Given the description of an element on the screen output the (x, y) to click on. 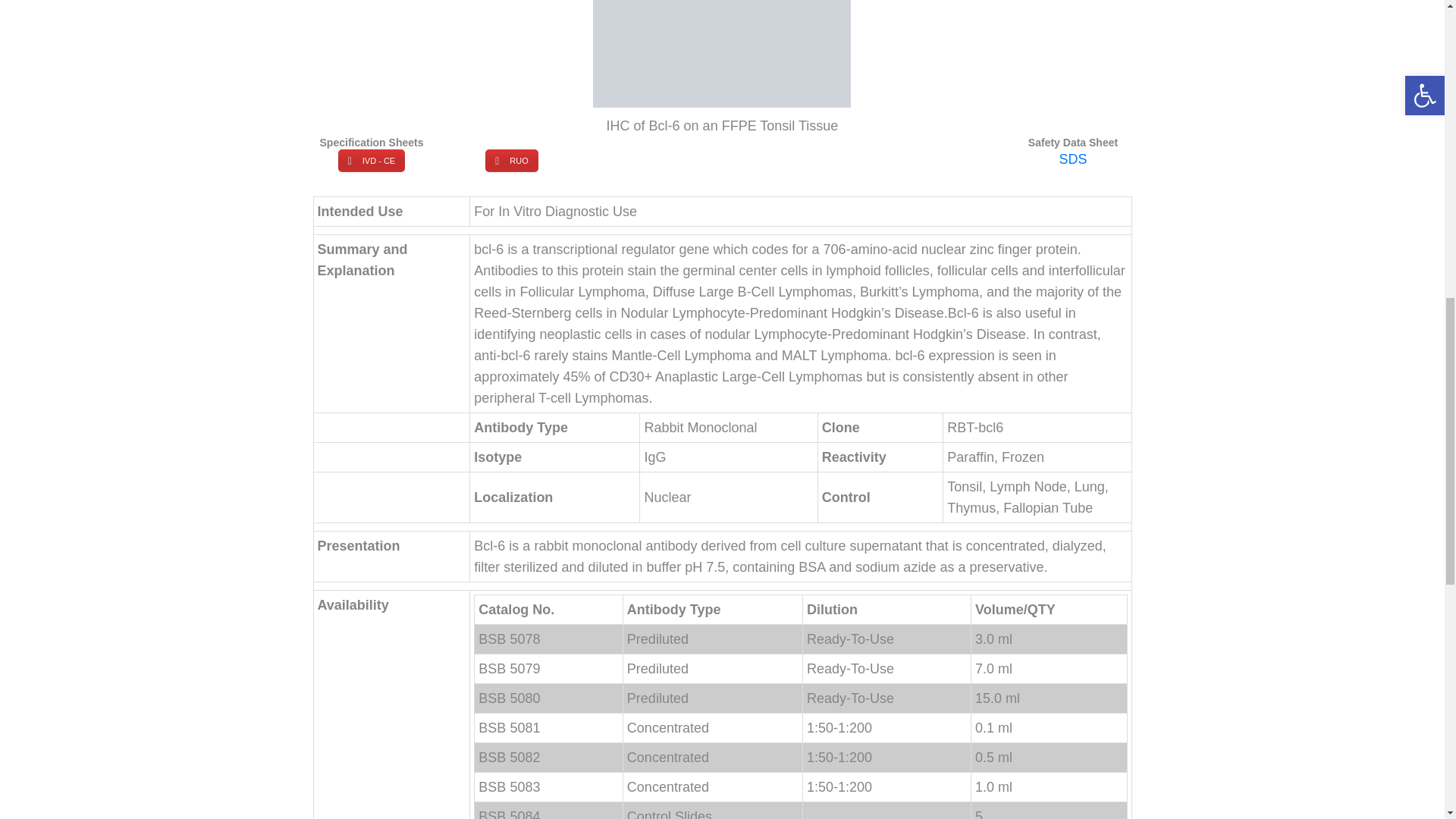
Bcl-6 - Rmab 1 (721, 53)
SDS (1072, 159)
RUO (510, 160)
IVD - CE (370, 160)
